Given the description of an element on the screen output the (x, y) to click on. 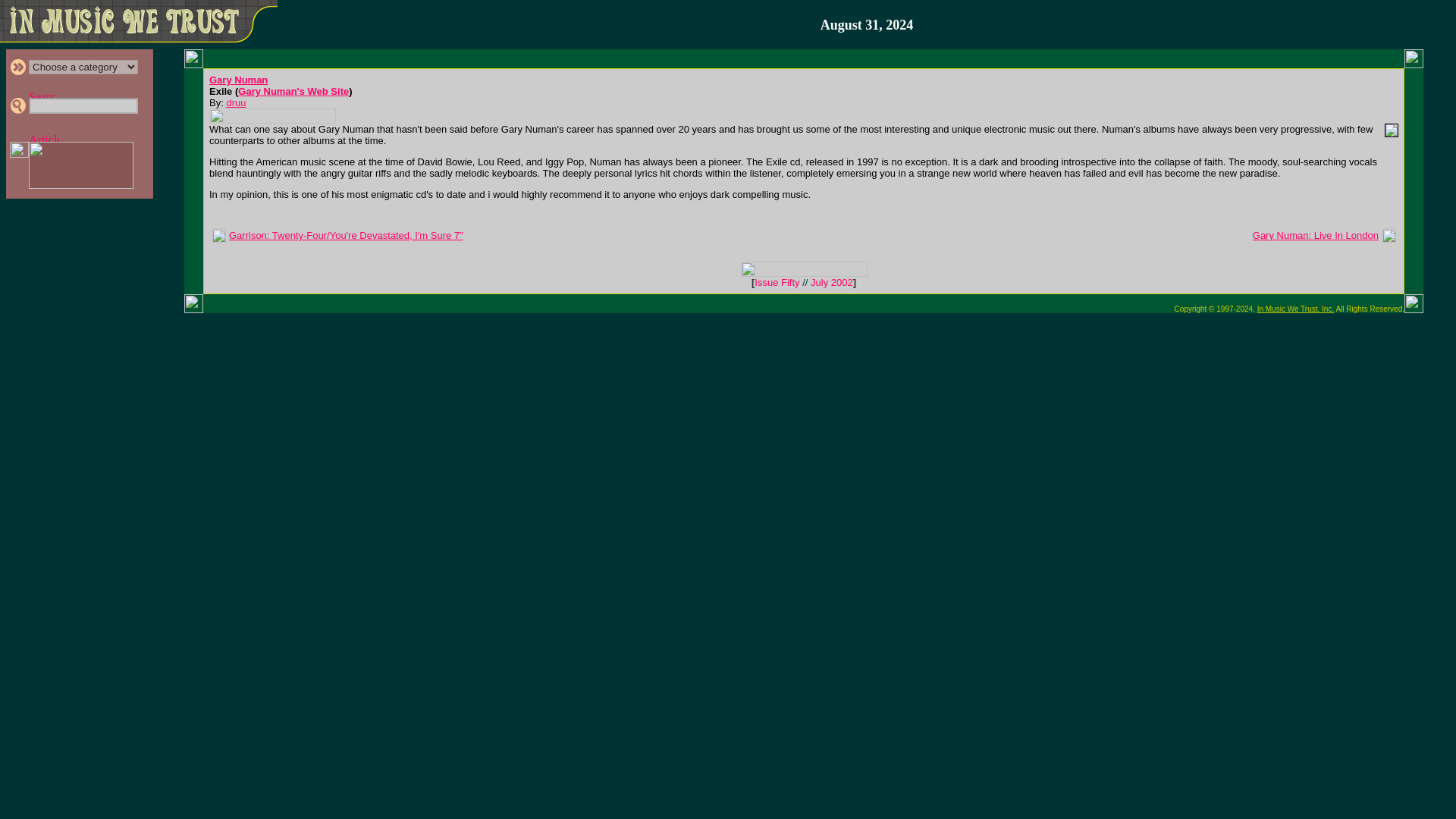
Gary Numan: Live In London (1315, 235)
In Music We Trust, Inc. (1296, 308)
Gary Numan (238, 79)
druu (235, 102)
August 31, 2024 (867, 24)
Gary Numan's Web Site (293, 91)
